Given the description of an element on the screen output the (x, y) to click on. 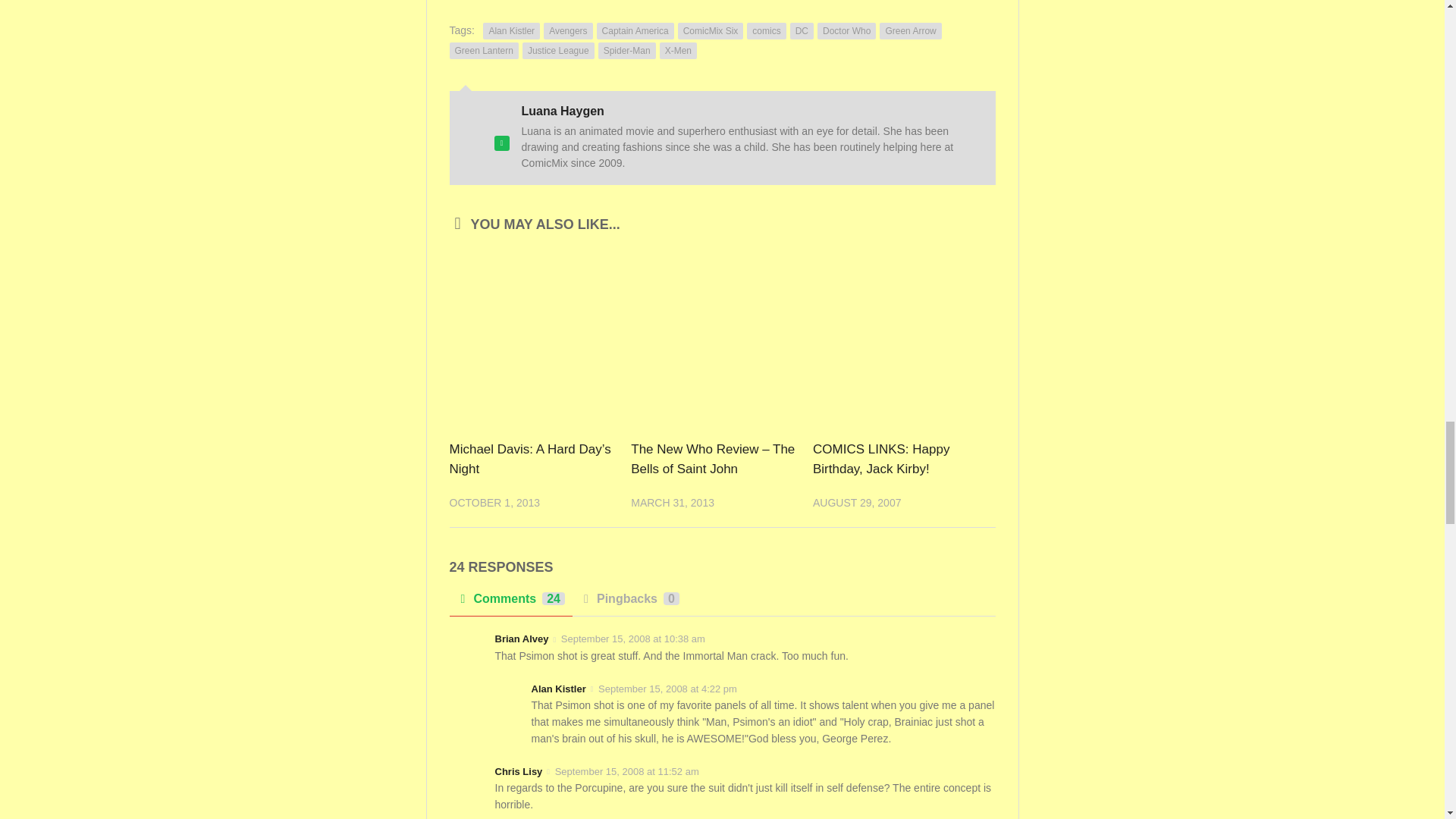
DC (801, 30)
comics (766, 30)
Doctor Who (846, 30)
Alan Kistler (511, 30)
ComicMix Six (711, 30)
Captain America (635, 30)
Avengers (567, 30)
